Given the description of an element on the screen output the (x, y) to click on. 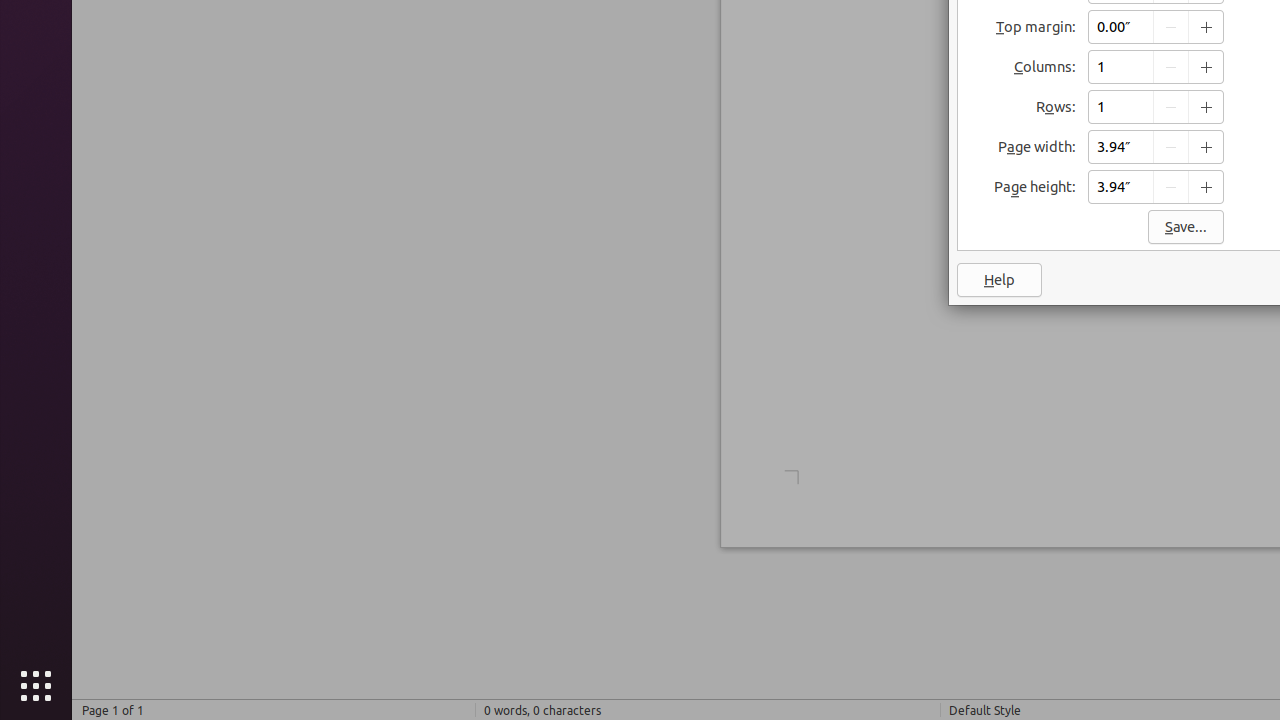
Show Applications Element type: toggle-button (36, 686)
